Given the description of an element on the screen output the (x, y) to click on. 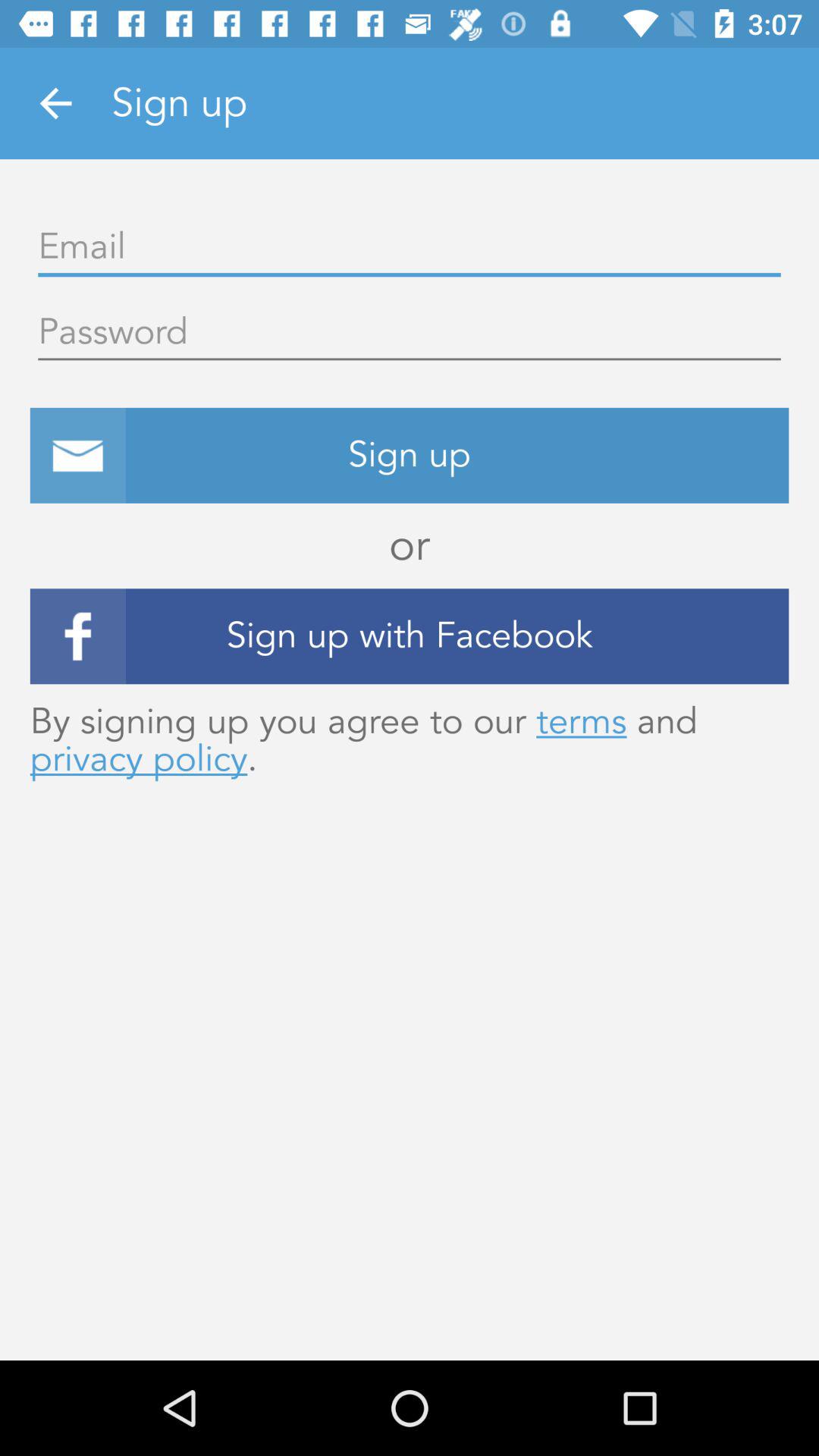
go to password (409, 332)
